Given the description of an element on the screen output the (x, y) to click on. 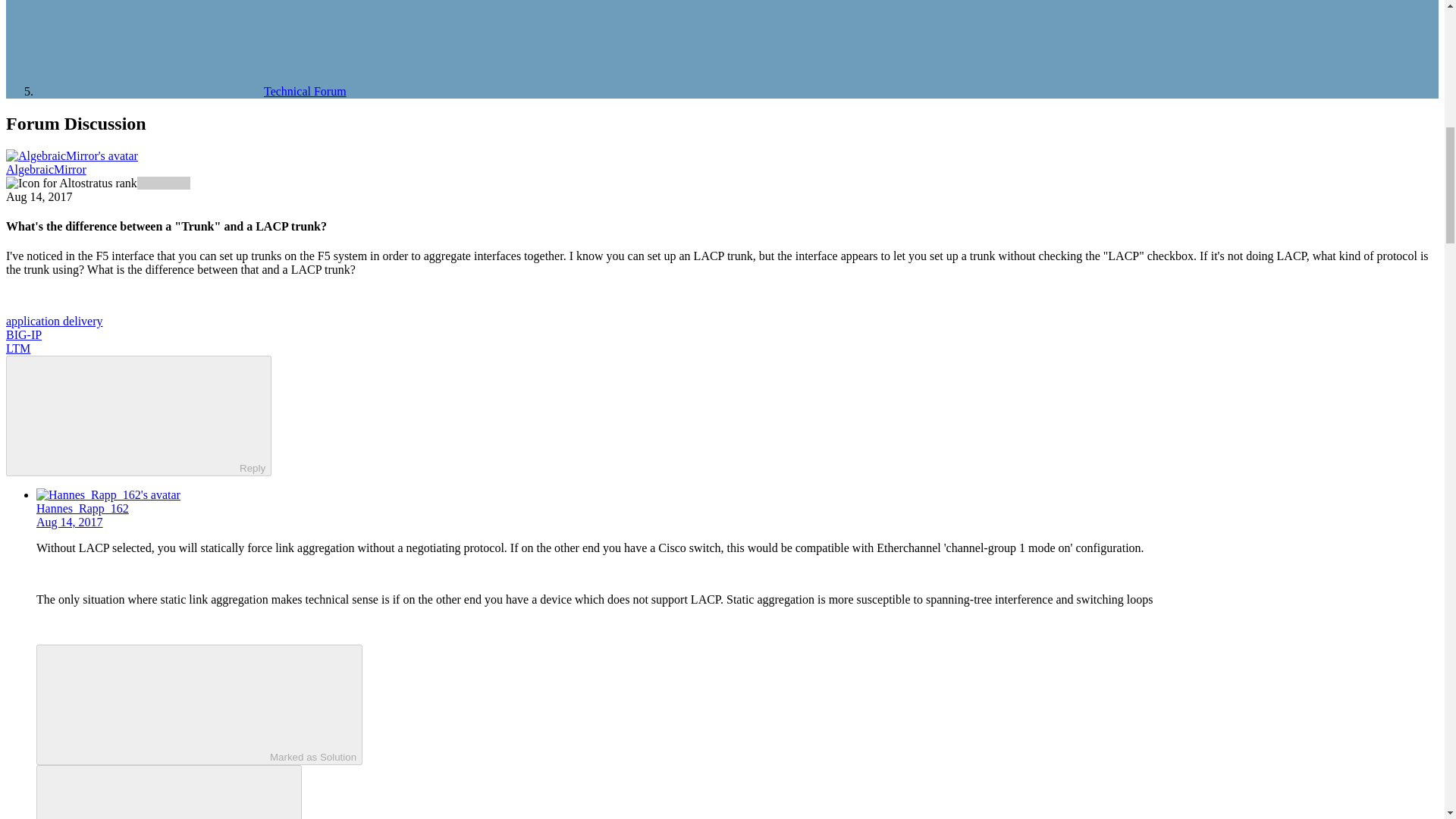
Reply (155, 793)
Marked as Solution (199, 704)
application delivery (54, 320)
BIG-IP (23, 334)
Reply (125, 414)
August 14, 2017 at 6:32 PM (69, 521)
Technical Forum (191, 91)
August 14, 2017 at 6:08 PM (38, 196)
LTM (17, 348)
Aug 14, 2017 (69, 521)
